Given the description of an element on the screen output the (x, y) to click on. 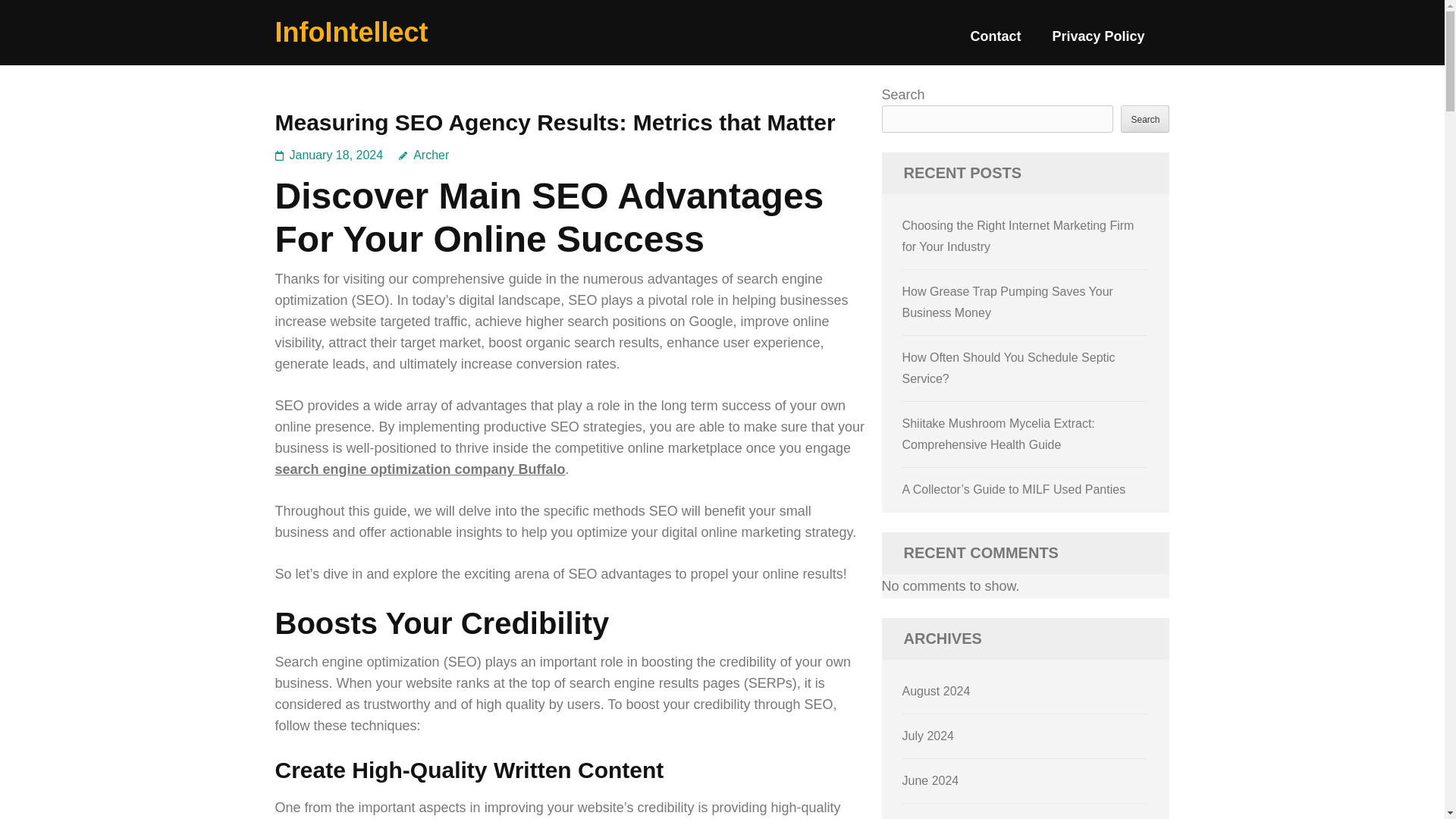
August 2024 (936, 690)
Search (1145, 118)
search engine optimization company Buffalo (419, 468)
How Grease Trap Pumping Saves Your Business Money (1007, 302)
How Often Should You Schedule Septic Service? (1008, 367)
January 18, 2024 (336, 154)
Choosing the Right Internet Marketing Firm for Your Industry (1018, 236)
Privacy Policy (1097, 42)
June 2024 (930, 780)
